Given the description of an element on the screen output the (x, y) to click on. 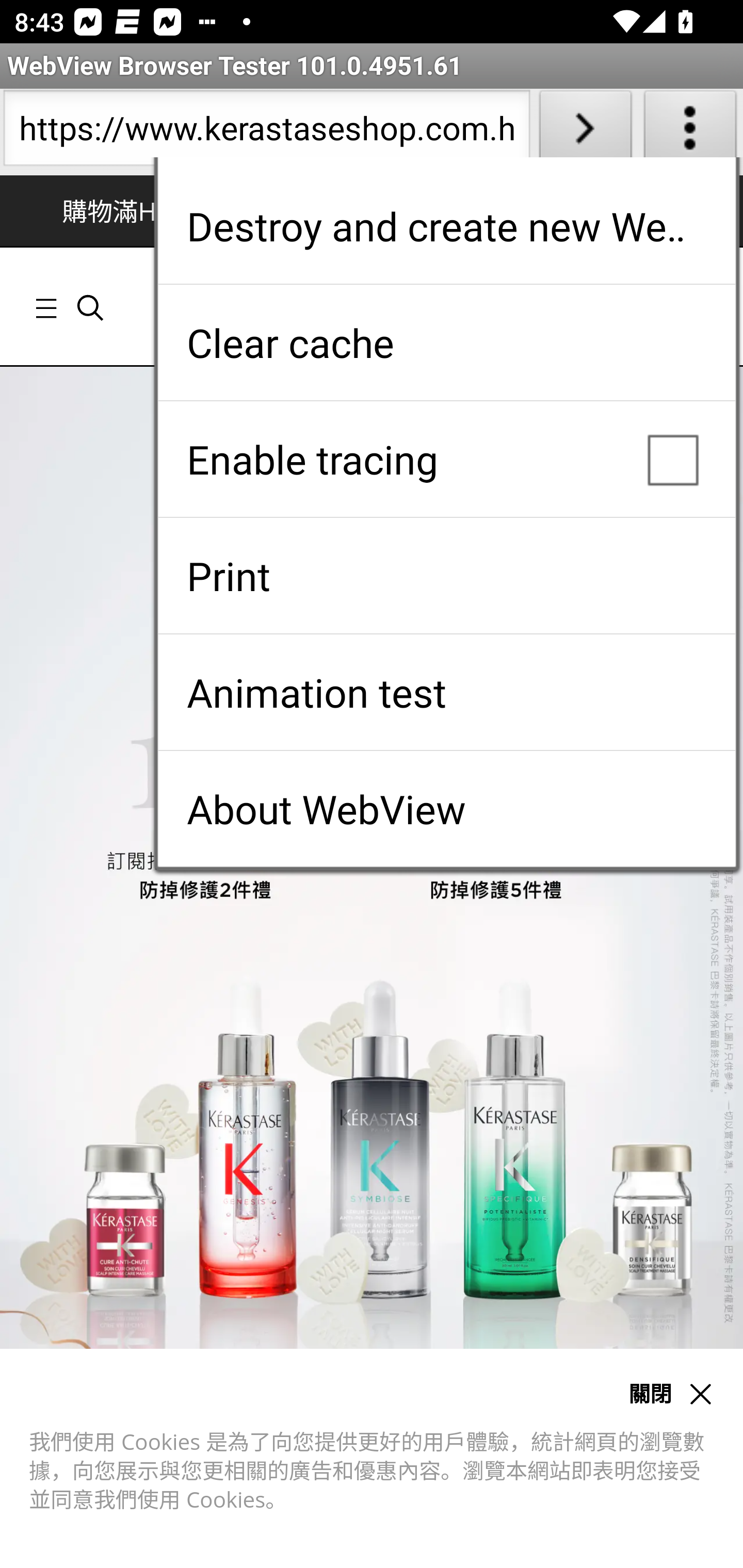
Destroy and create new WebView (446, 225)
Clear cache (446, 342)
Enable tracing (446, 459)
Print (446, 575)
Animation test (446, 692)
About WebView (446, 809)
